Given the description of an element on the screen output the (x, y) to click on. 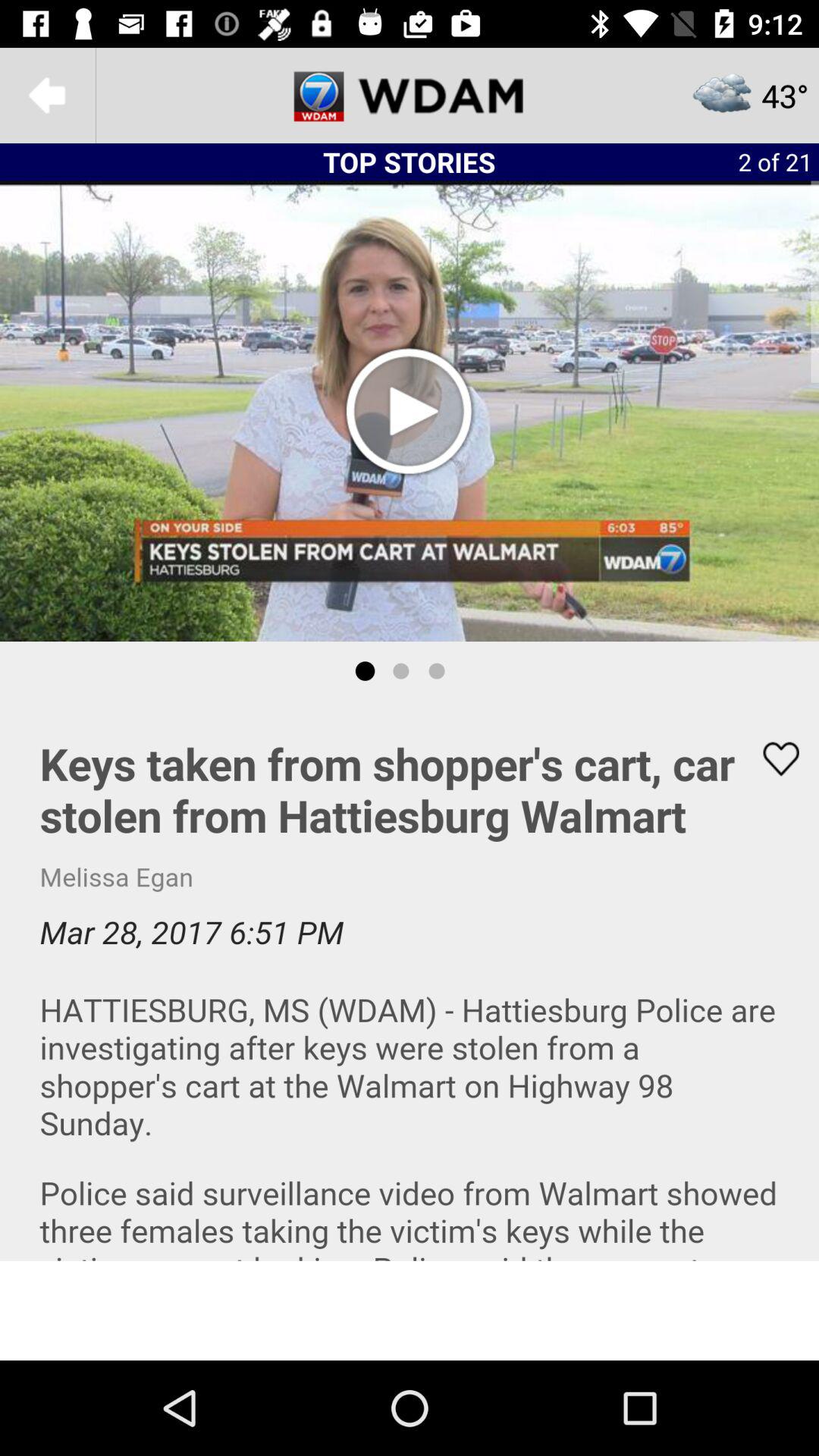
click the wdam logo (409, 95)
